Given the description of an element on the screen output the (x, y) to click on. 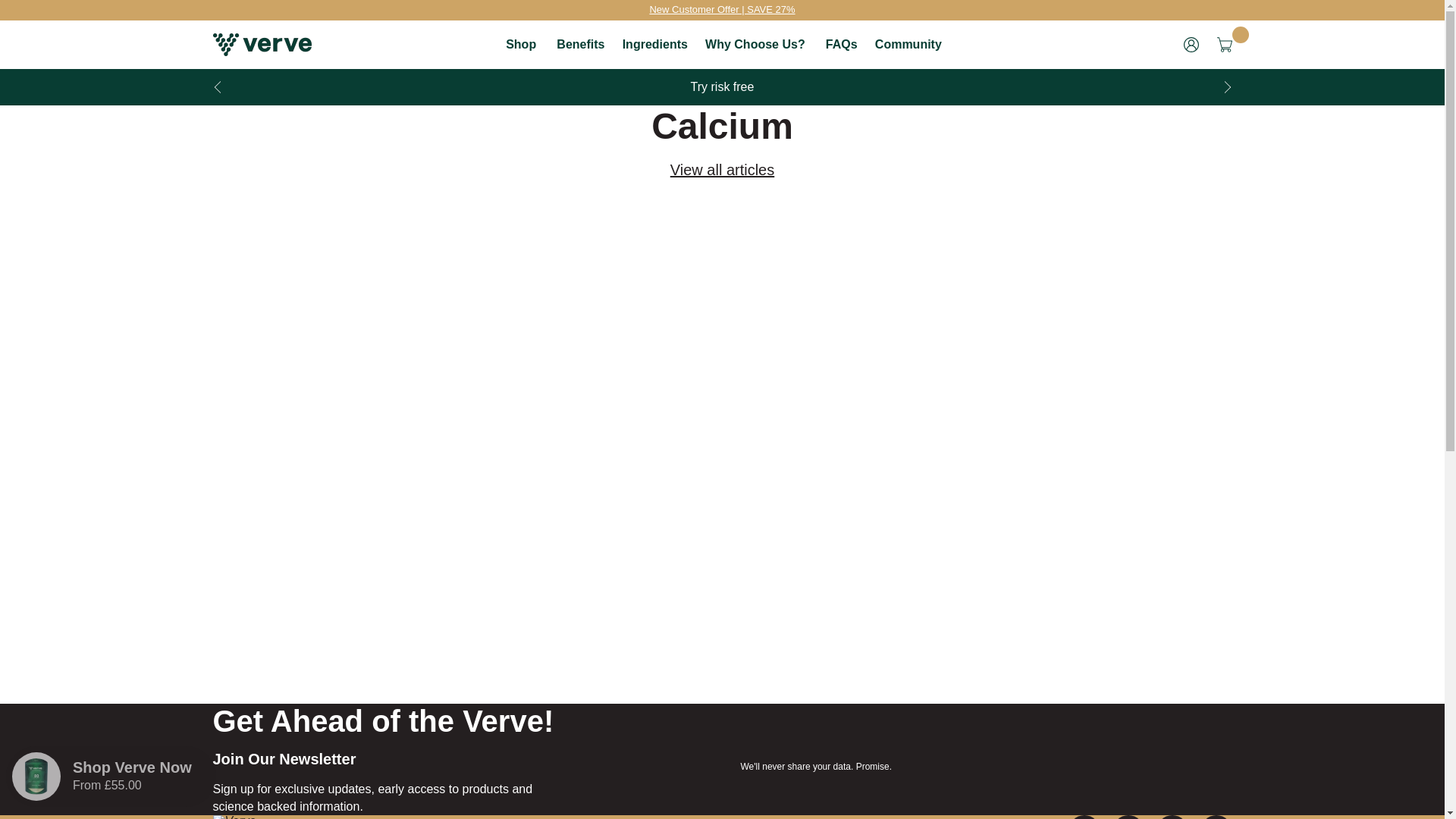
Benefits (580, 44)
Ingredients (655, 44)
New Customers (721, 9)
Community (908, 44)
Why Choose Us? (754, 44)
